Given the description of an element on the screen output the (x, y) to click on. 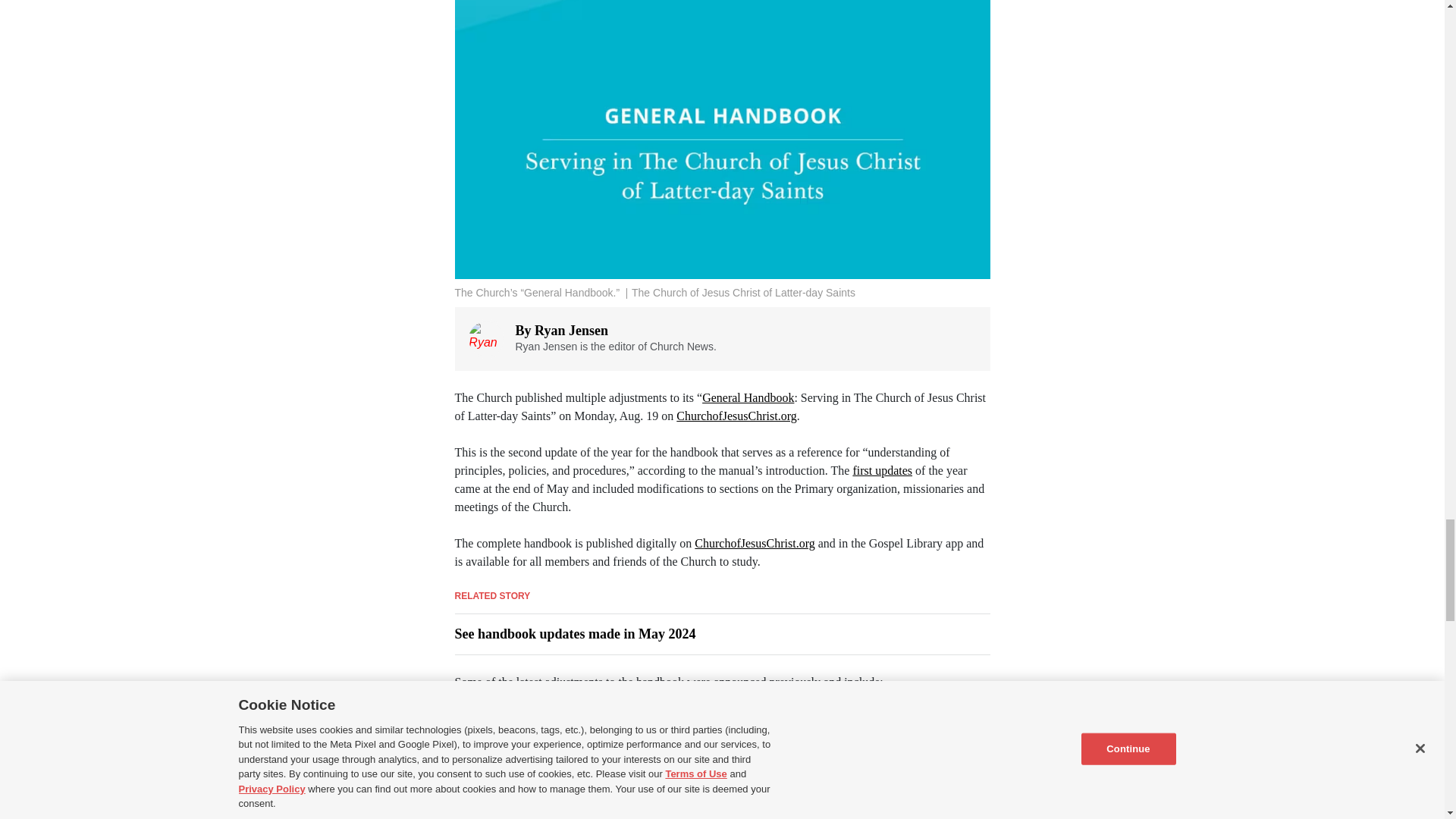
Ryan Jensen (571, 330)
General Handbook (747, 397)
See handbook updates made in May 2024 (574, 633)
Expanded age range (535, 717)
first updates (881, 470)
ChurchofJesusChrist.org (753, 543)
ChurchofJesusChrist.org (736, 415)
